Given the description of an element on the screen output the (x, y) to click on. 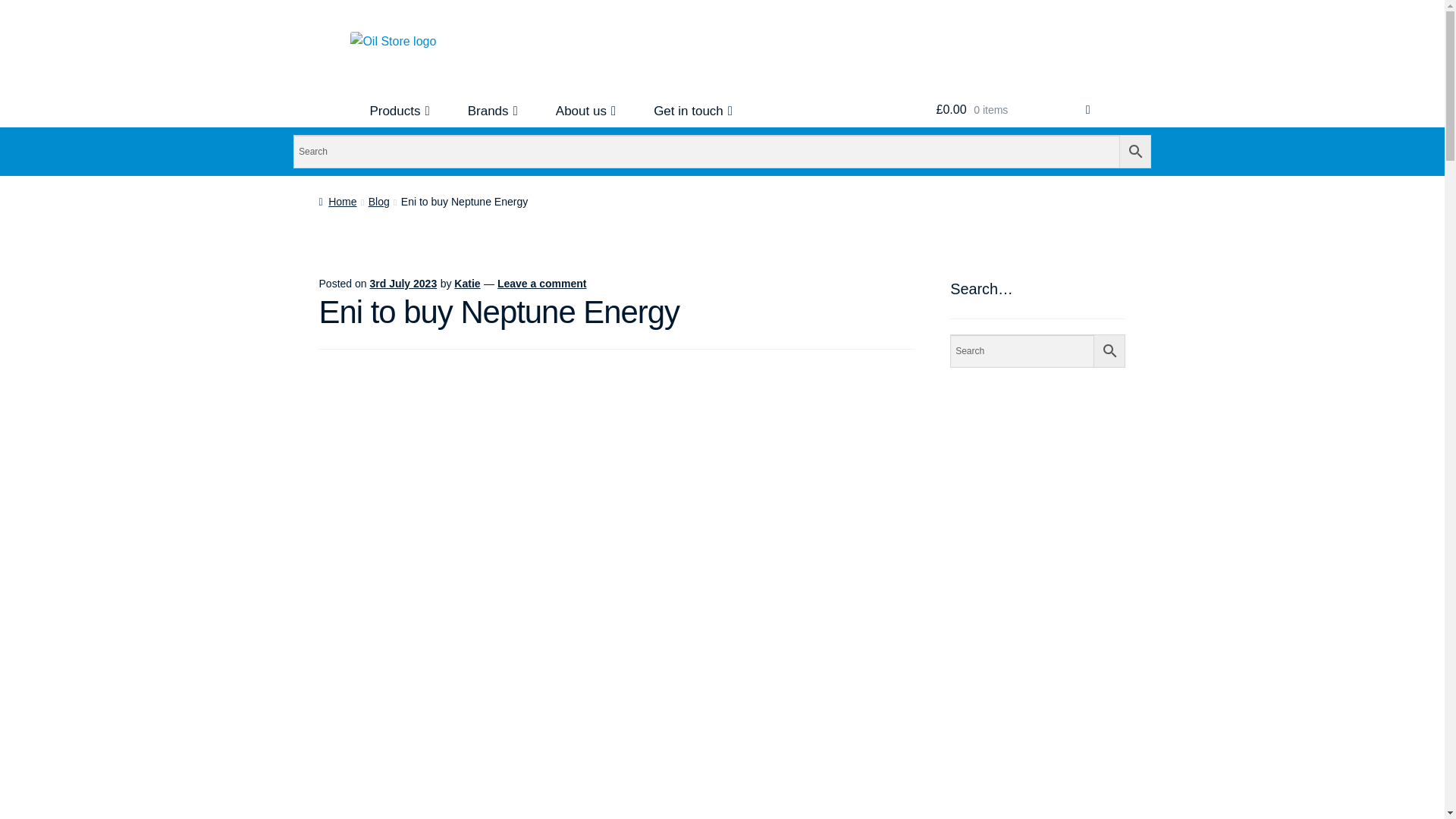
Products (399, 111)
View your shopping basket (1013, 109)
